Given the description of an element on the screen output the (x, y) to click on. 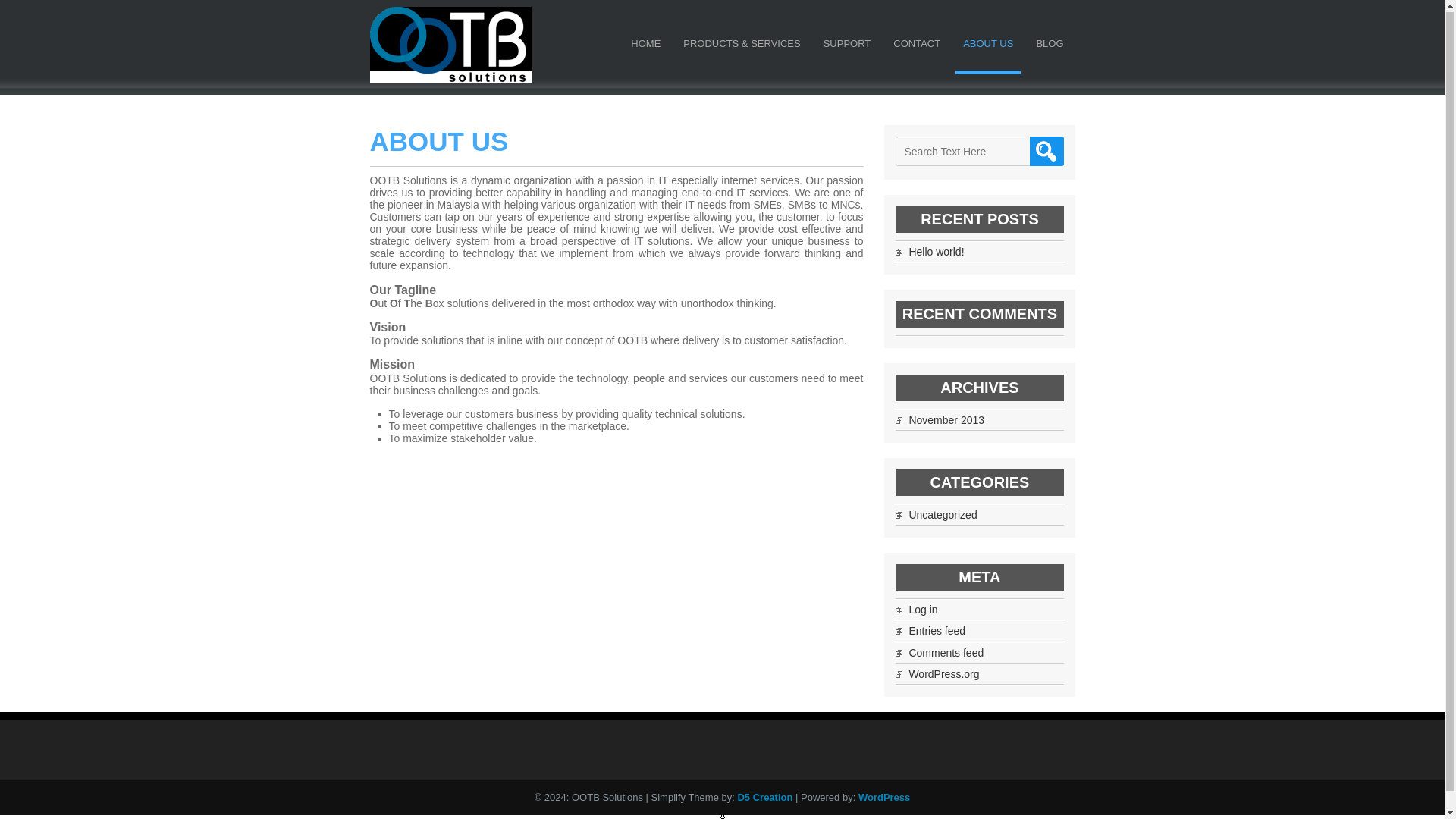
Uncategorized (942, 514)
Log in (922, 609)
Comments feed (946, 653)
Search (1046, 151)
ABOUT US (987, 46)
WordPress (884, 797)
November 2013 (946, 419)
SUPPORT (847, 46)
D5 Creation (764, 797)
Entries feed (936, 630)
Hello world! (935, 251)
WordPress.org (943, 674)
Search (1046, 151)
CONTACT (916, 46)
